Given the description of an element on the screen output the (x, y) to click on. 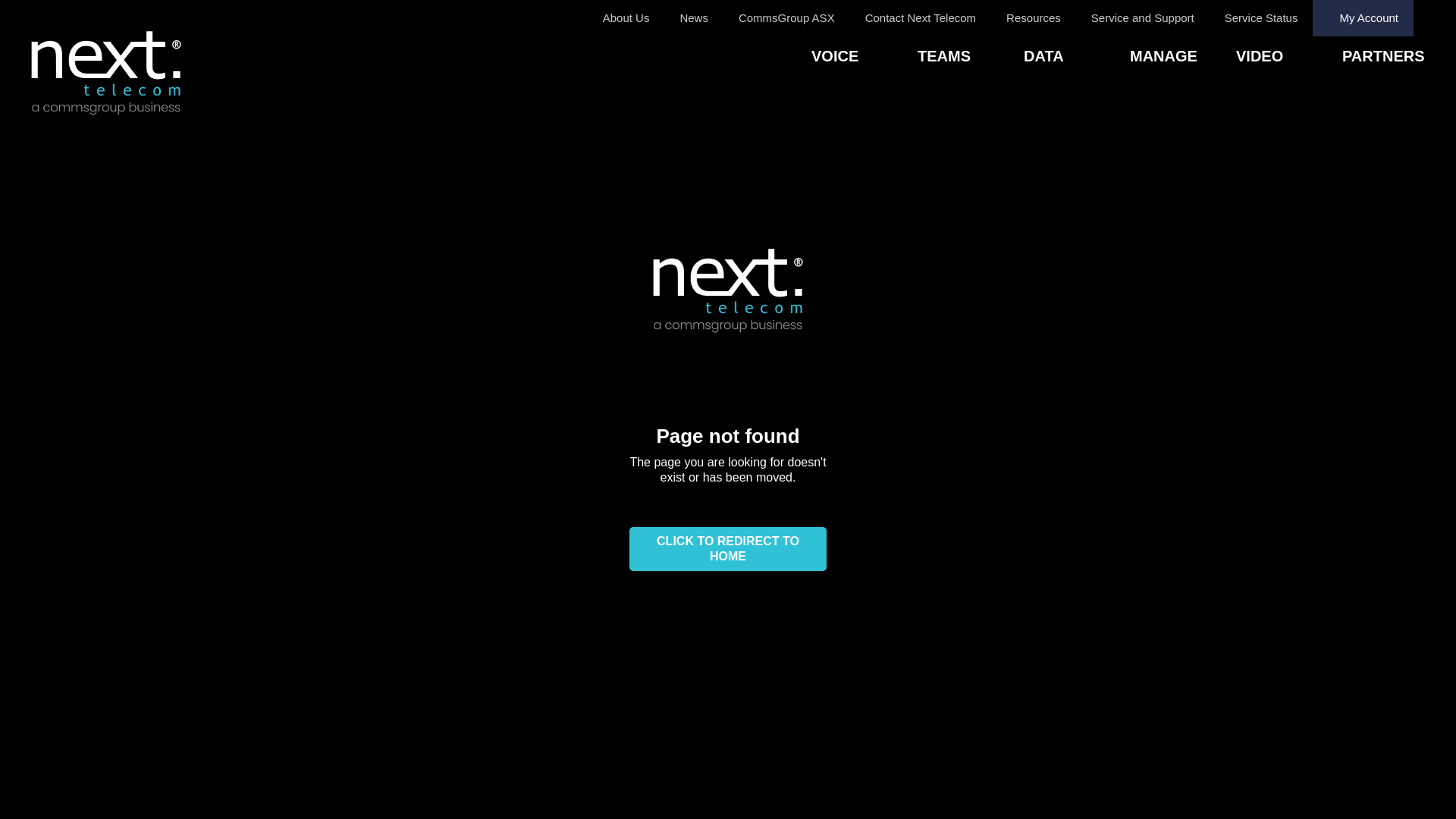
PARTNERS Element type: text (1395, 57)
TEAMS Element type: text (970, 57)
My Account Element type: text (1362, 18)
About Us Element type: text (626, 18)
CLICK TO REDIRECT TO HOME Element type: text (727, 549)
Contact Next Telecom Element type: text (920, 18)
CommsGroup ASX Element type: text (786, 18)
News Element type: text (693, 18)
VIDEO Element type: text (1289, 57)
MANAGE Element type: text (1182, 57)
Service and Support Element type: text (1142, 18)
VOICE Element type: text (864, 57)
Resources Element type: text (1033, 18)
Service Status Element type: text (1261, 18)
DATA Element type: text (1076, 57)
